Given the description of an element on the screen output the (x, y) to click on. 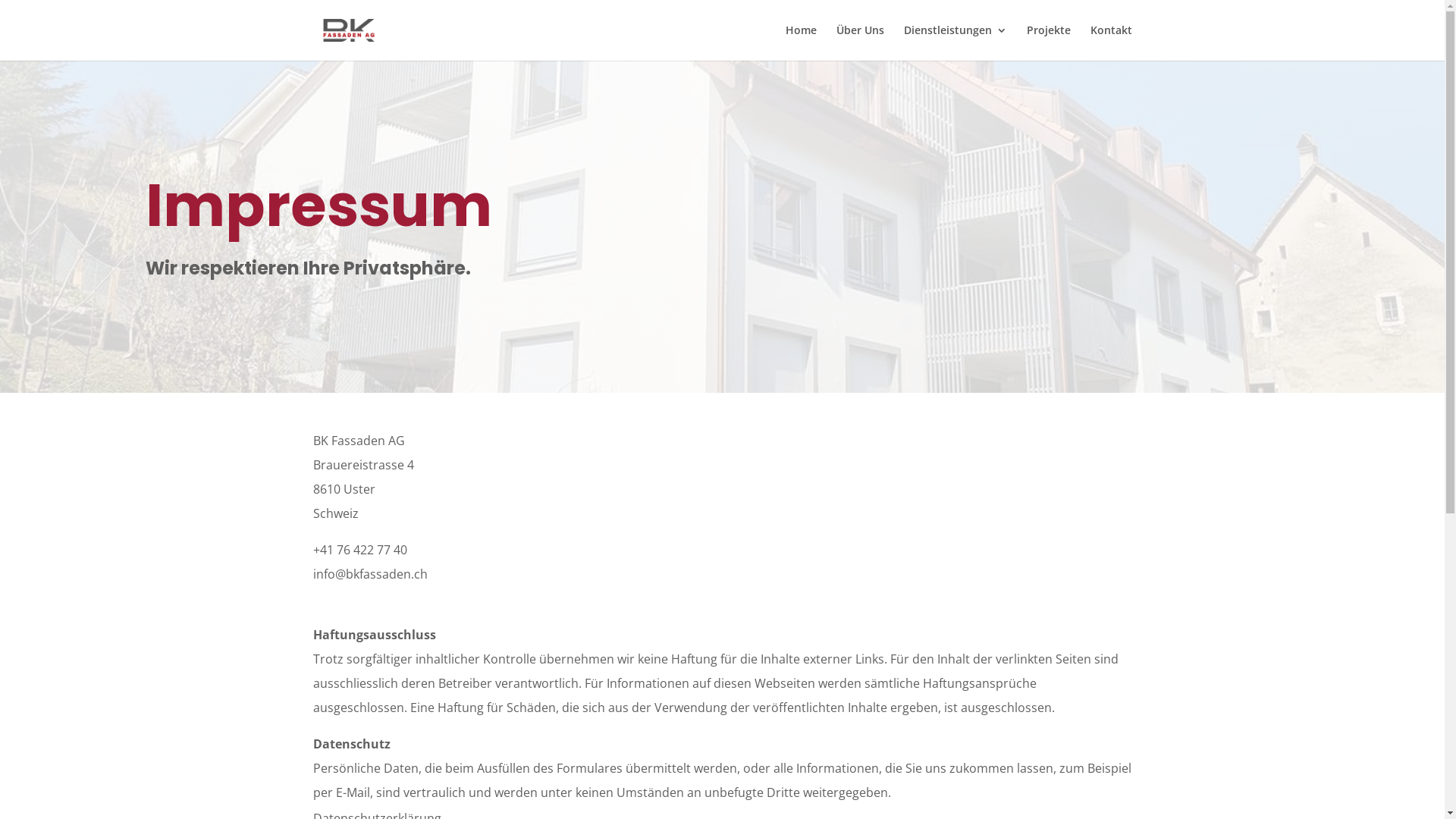
+41 76 422 77 40 Element type: text (359, 549)
Projekte Element type: text (1048, 42)
info@bkfassaden.ch Element type: text (369, 573)
Dienstleistungen Element type: text (955, 42)
Home Element type: text (800, 42)
Kontakt Element type: text (1111, 42)
